Given the description of an element on the screen output the (x, y) to click on. 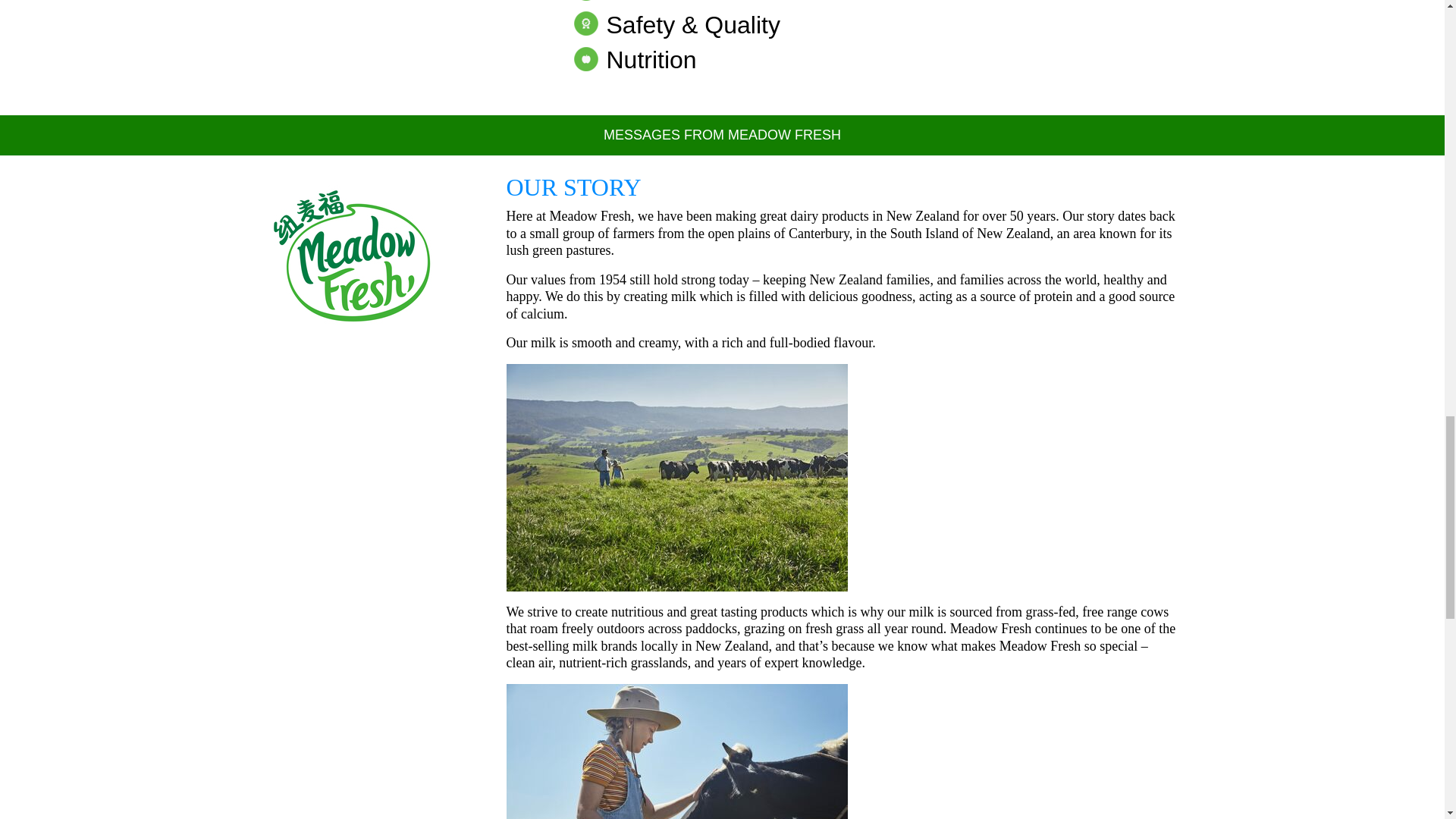
Nutrition (634, 59)
Meadow Fresh Logo (352, 256)
MF Farm Horizon (676, 477)
MF Cow (676, 751)
